Given the description of an element on the screen output the (x, y) to click on. 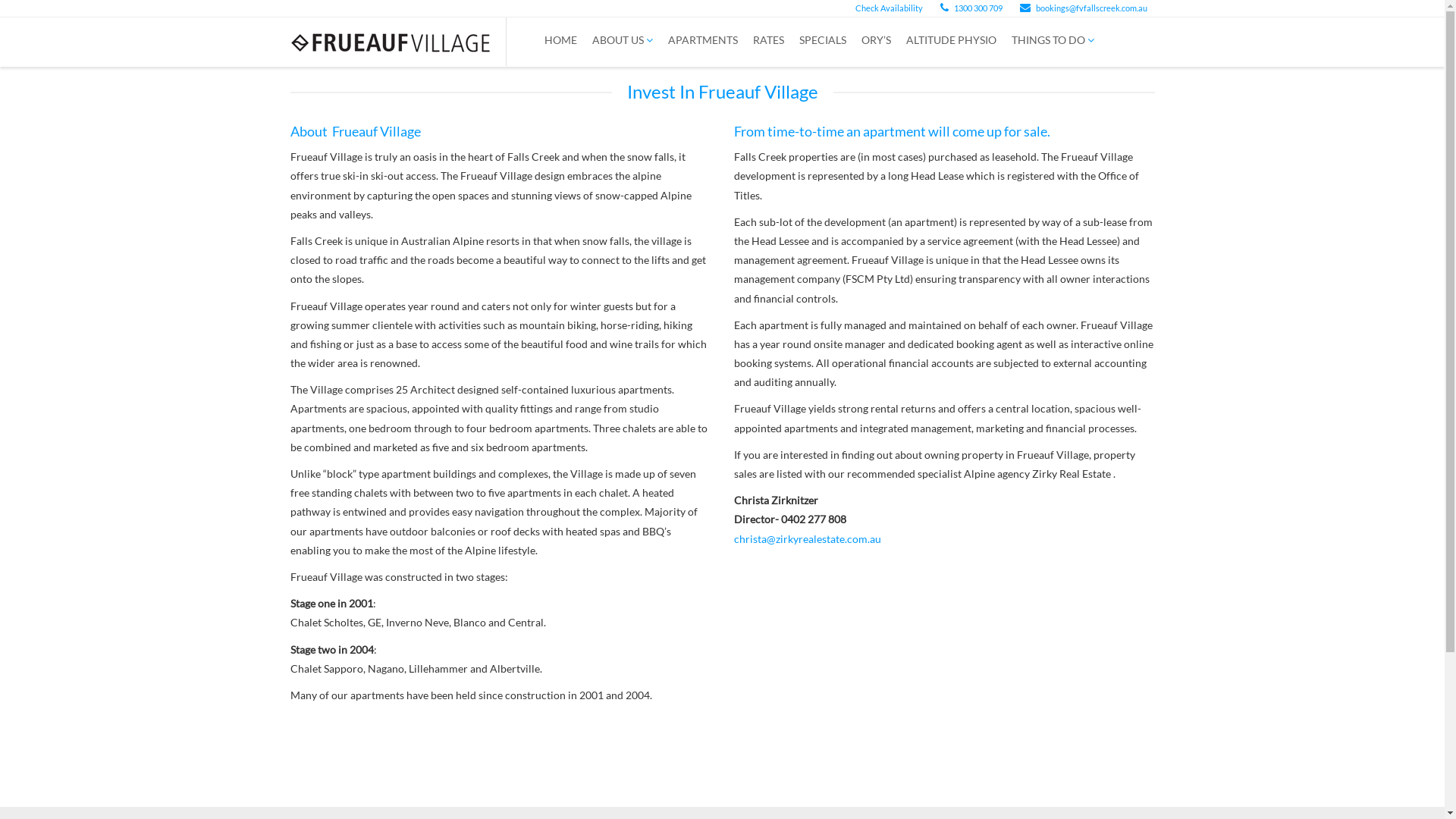
1300 300 709 Element type: text (971, 7)
SPECIALS Element type: text (822, 39)
bookings@fvfallscreek.com.au Element type: text (1082, 7)
APARTMENTS Element type: text (701, 39)
ABOUT US Element type: text (621, 39)
RATES Element type: text (767, 39)
Check Availability Element type: text (885, 7)
christa@zirkyrealestate.com.au Element type: text (807, 538)
THINGS TO DO Element type: text (1052, 39)
HOME Element type: text (560, 39)
ALTITUDE PHYSIO Element type: text (950, 39)
